Given the description of an element on the screen output the (x, y) to click on. 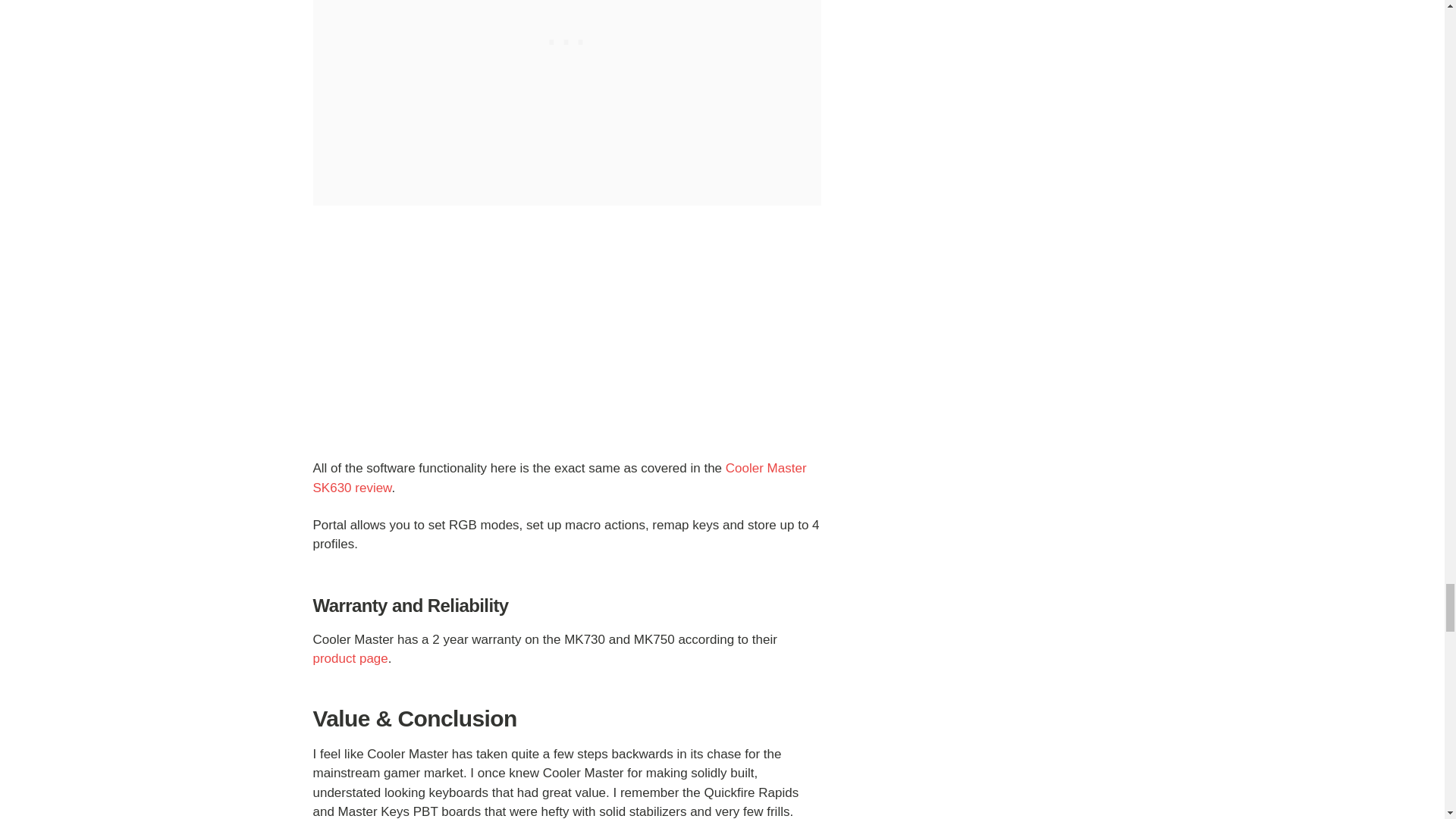
product page (350, 658)
Cooler Master SK630 review (559, 478)
